Given the description of an element on the screen output the (x, y) to click on. 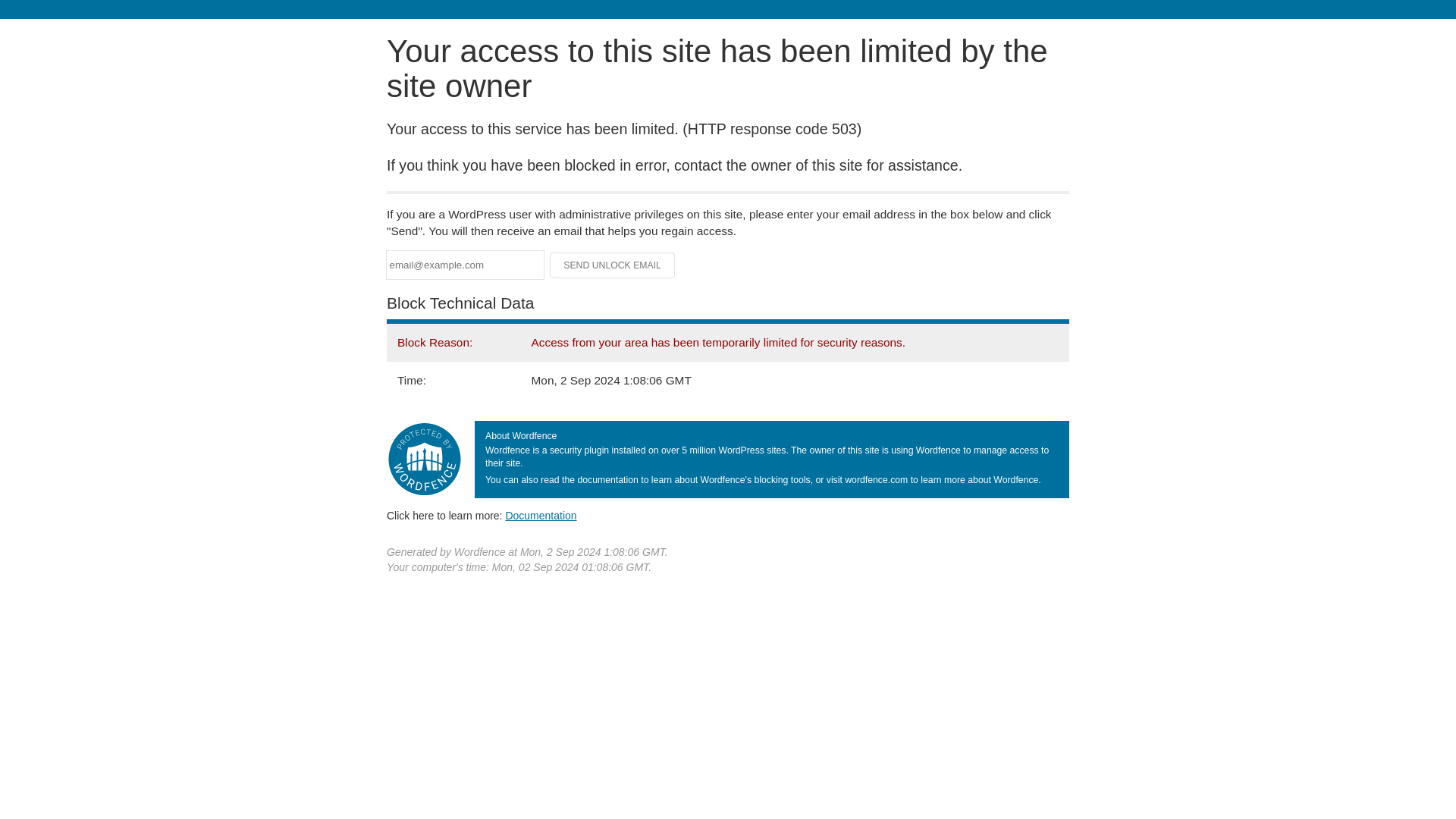
Documentation (540, 515)
Send Unlock Email (612, 265)
Send Unlock Email (612, 265)
